Given the description of an element on the screen output the (x, y) to click on. 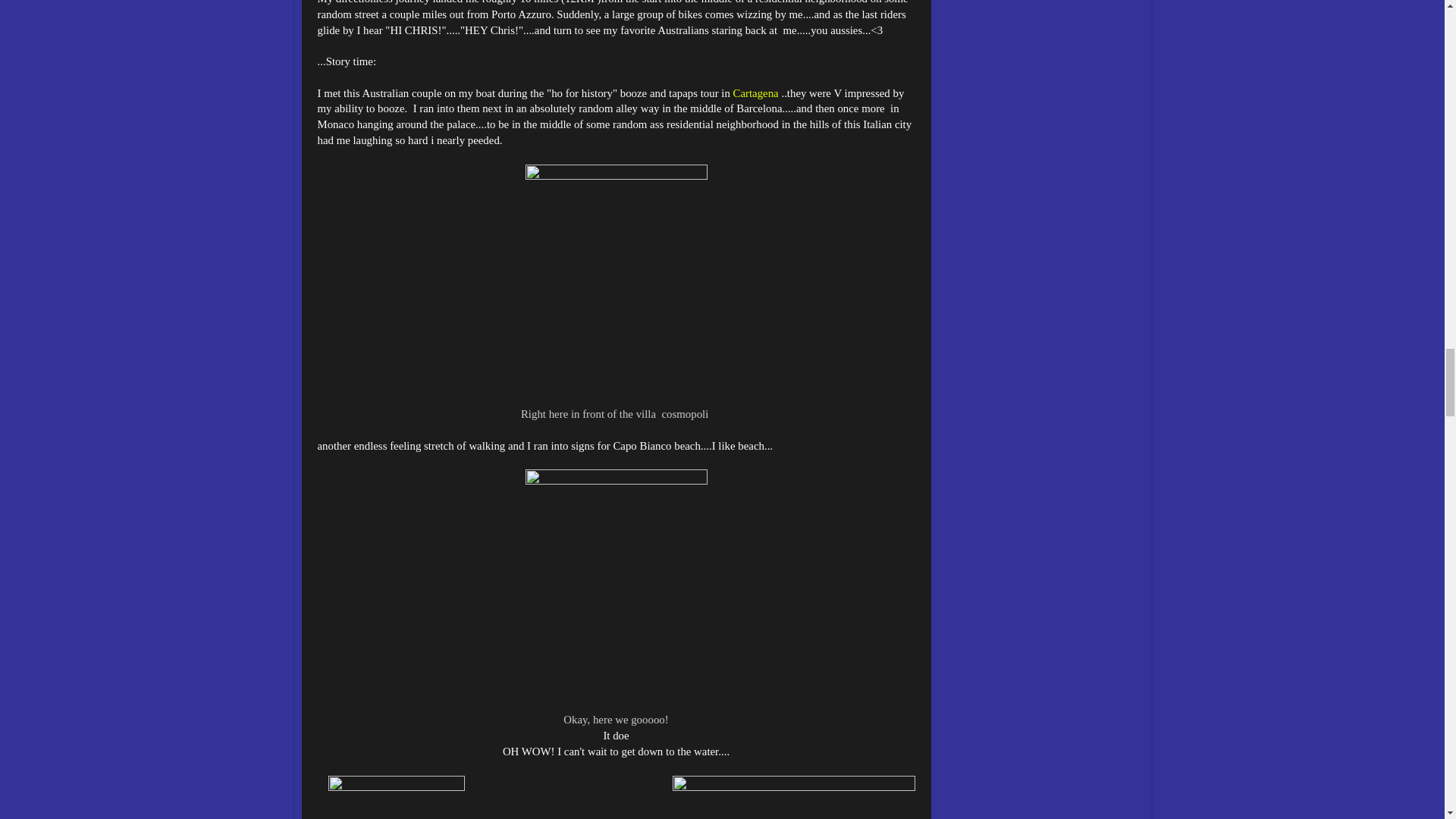
Cartagena (755, 92)
